Given the description of an element on the screen output the (x, y) to click on. 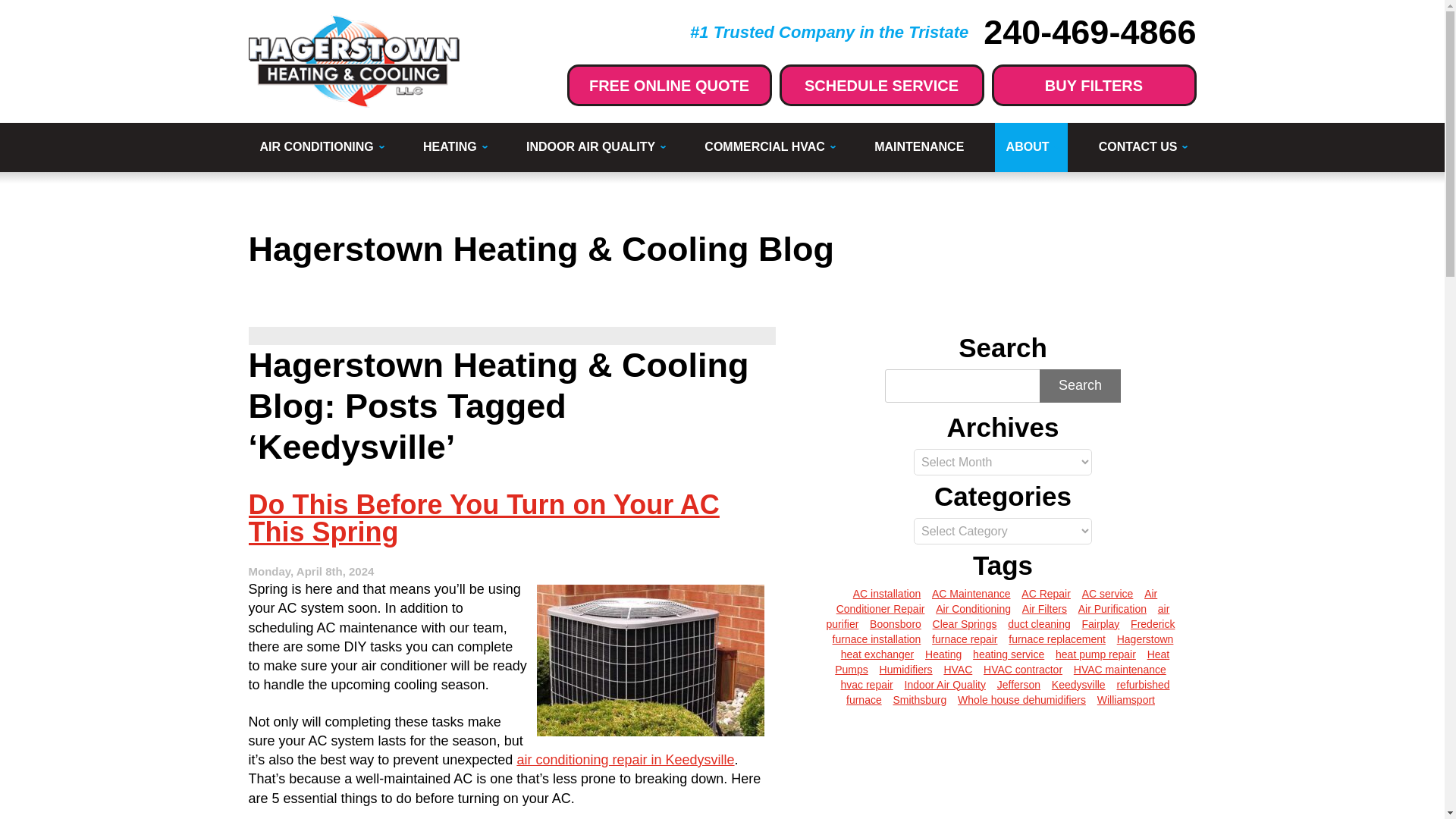
HEATING (454, 146)
BUY FILTERS (1093, 85)
240-469-4866 (1089, 32)
SCHEDULE SERVICE (881, 85)
INDOOR AIR QUALITY (594, 146)
FREE ONLINE QUOTE (669, 85)
AIR CONDITIONING (320, 146)
